Given the description of an element on the screen output the (x, y) to click on. 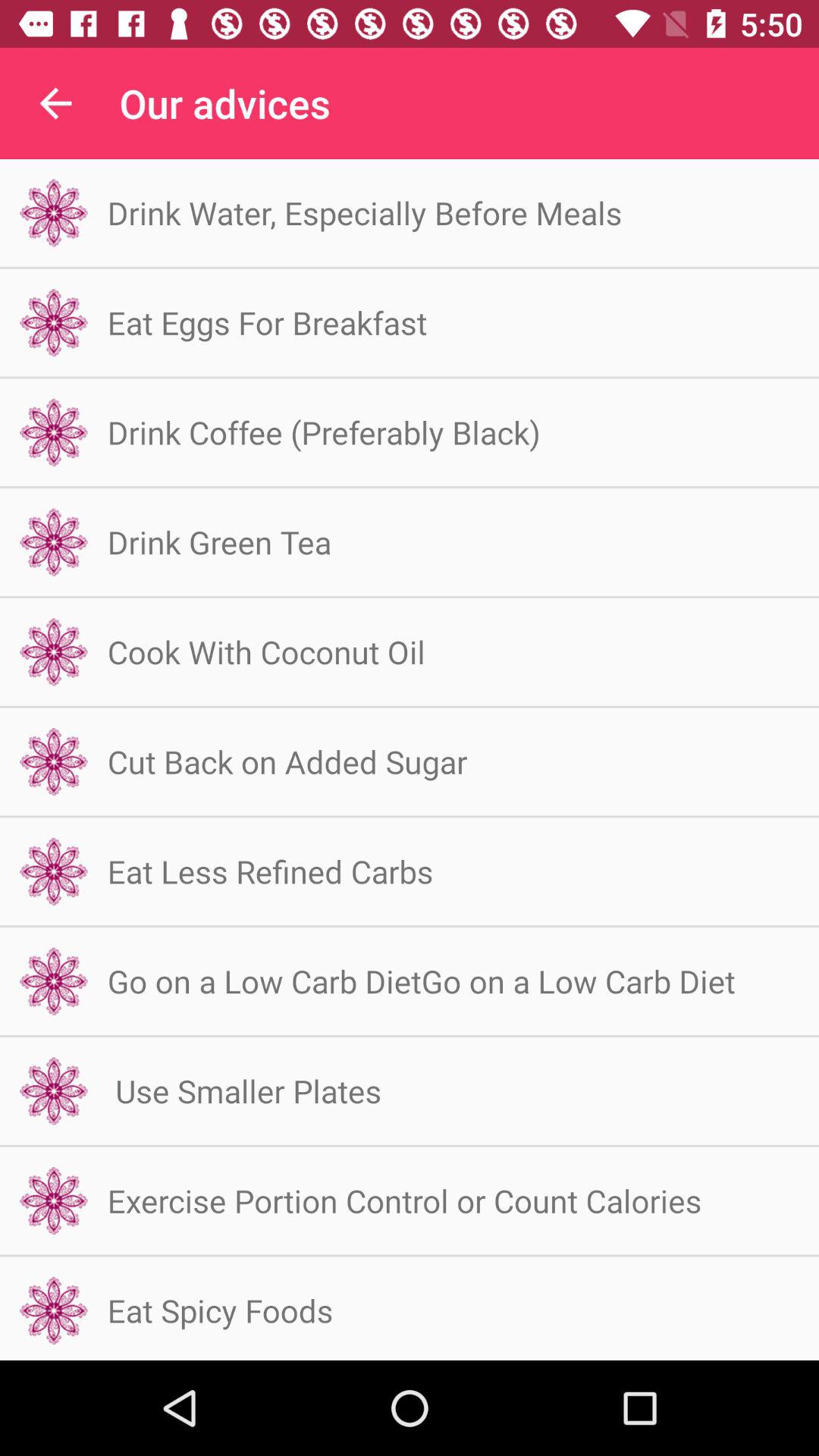
select the item above exercise portion control (244, 1090)
